Given the description of an element on the screen output the (x, y) to click on. 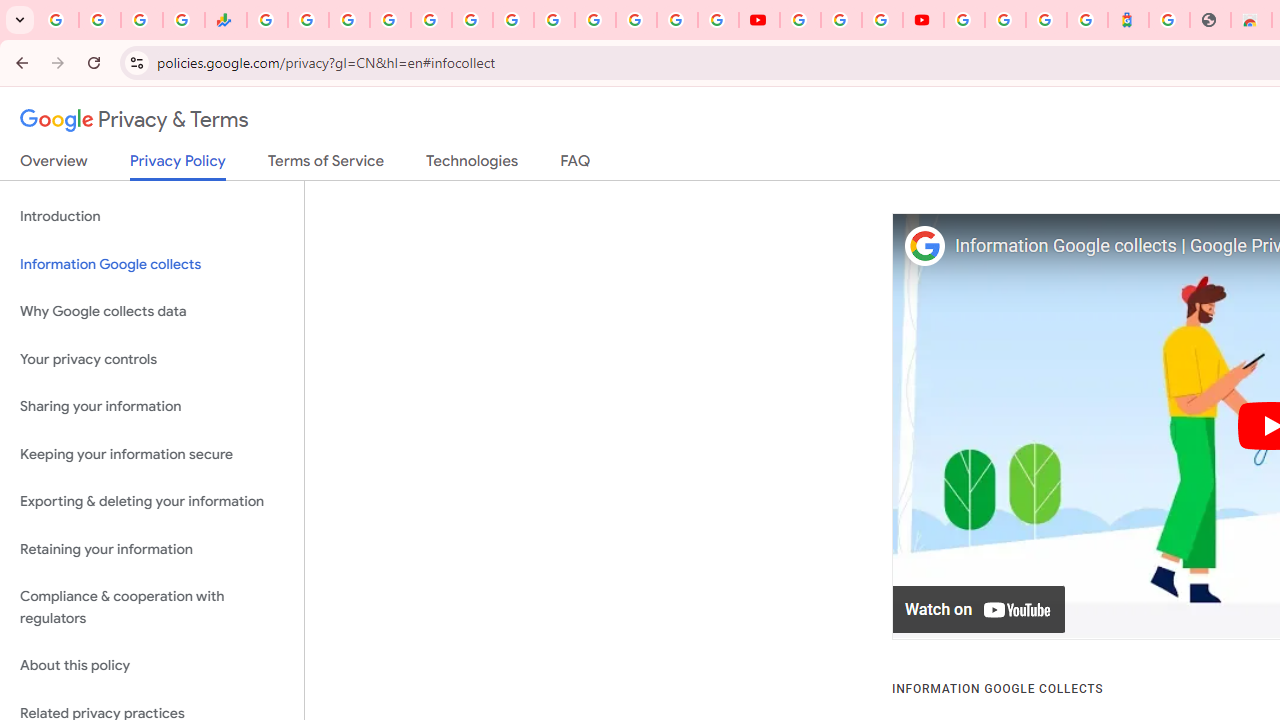
Why Google collects data (152, 312)
Information Google collects (152, 263)
Content Creator Programs & Opportunities - YouTube Creators (923, 20)
YouTube (553, 20)
Atour Hotel - Google hotels (1128, 20)
Compliance & cooperation with regulators (152, 607)
Sign in - Google Accounts (594, 20)
